Given the description of an element on the screen output the (x, y) to click on. 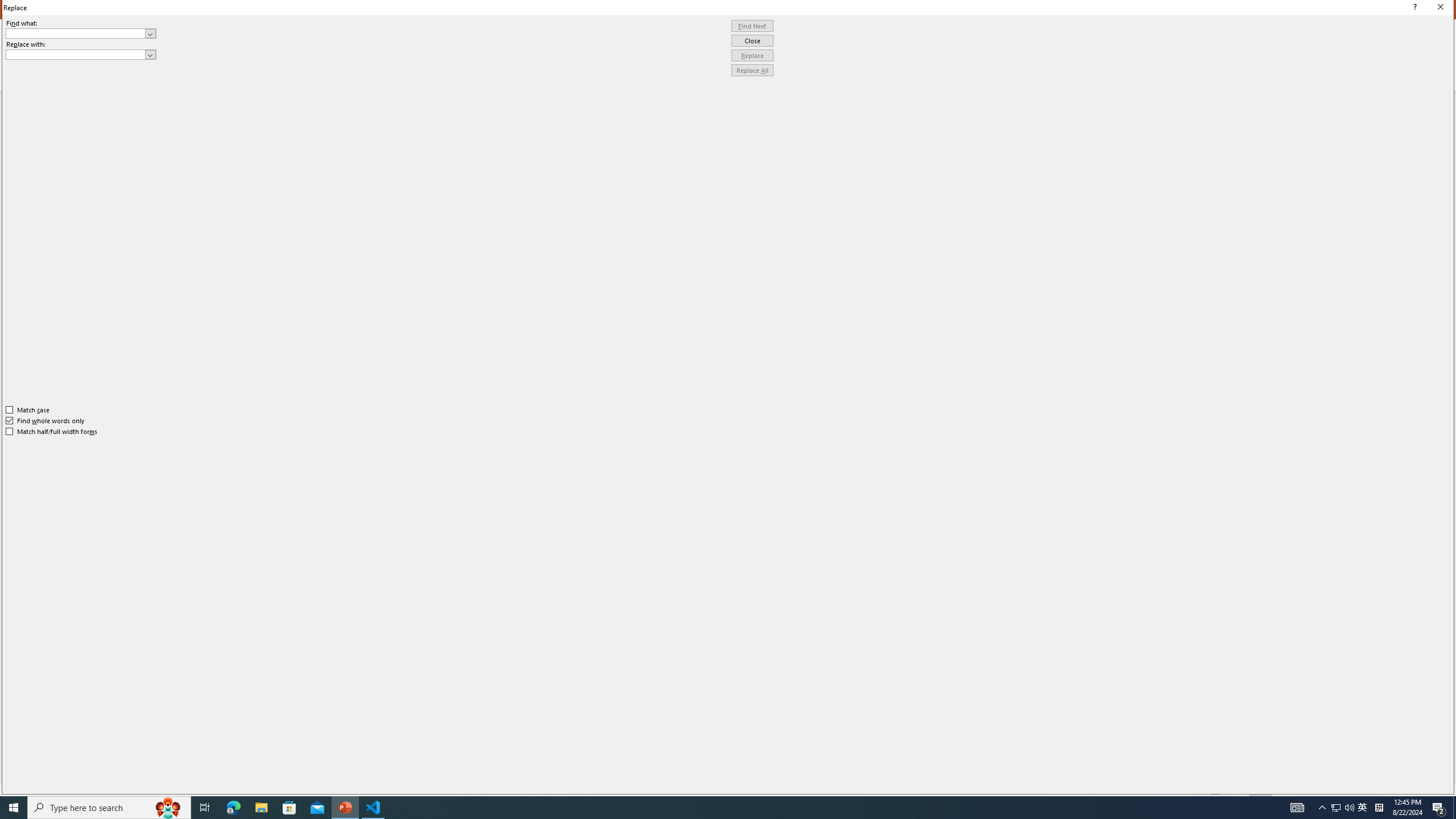
Replace with (80, 54)
Find whole words only (45, 420)
Find Next (752, 25)
Replace (752, 55)
Find what (80, 33)
Match case (27, 409)
Replace All (752, 69)
Replace with (75, 53)
Find what (75, 33)
Match half/full width forms (52, 431)
